Given the description of an element on the screen output the (x, y) to click on. 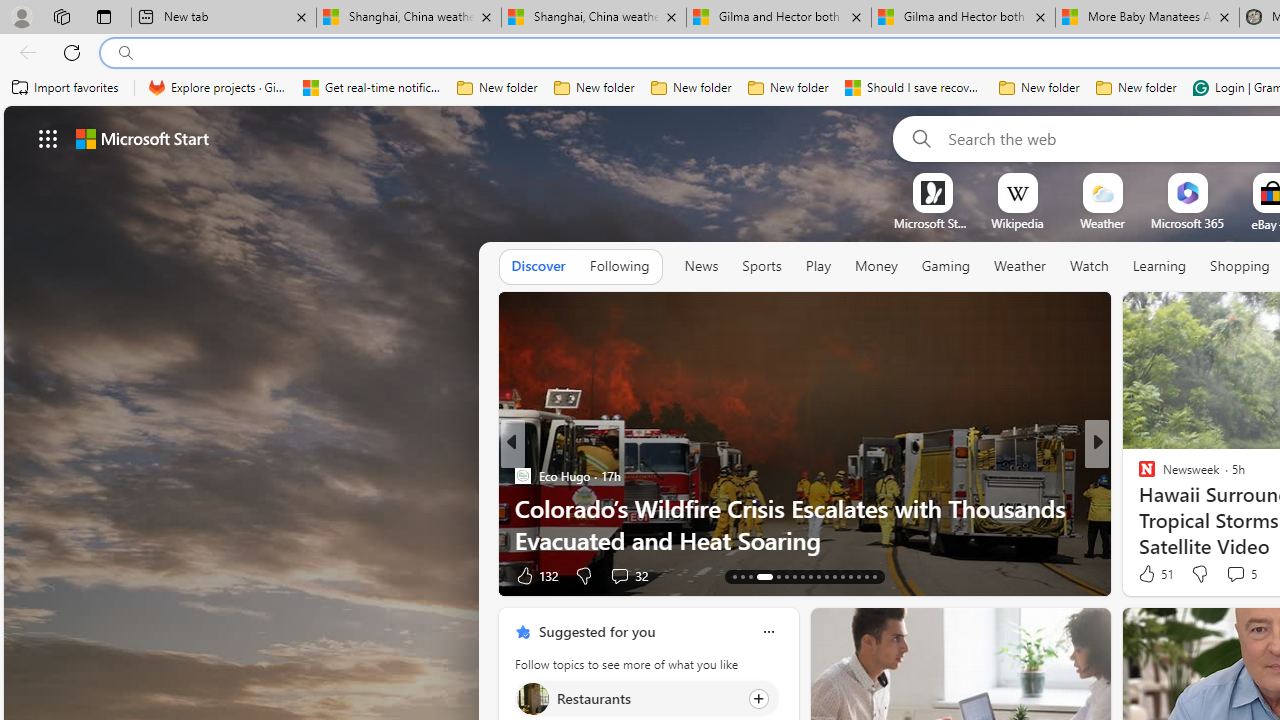
AutomationID: tab-25 (810, 576)
22 Like (1149, 574)
PC World (1138, 475)
Nordace.com (1165, 507)
New folder (1136, 88)
AutomationID: waffle (47, 138)
View comments 11 Comment (1237, 574)
Microsoft start (142, 138)
You're following Newsweek (1053, 579)
